Given the description of an element on the screen output the (x, y) to click on. 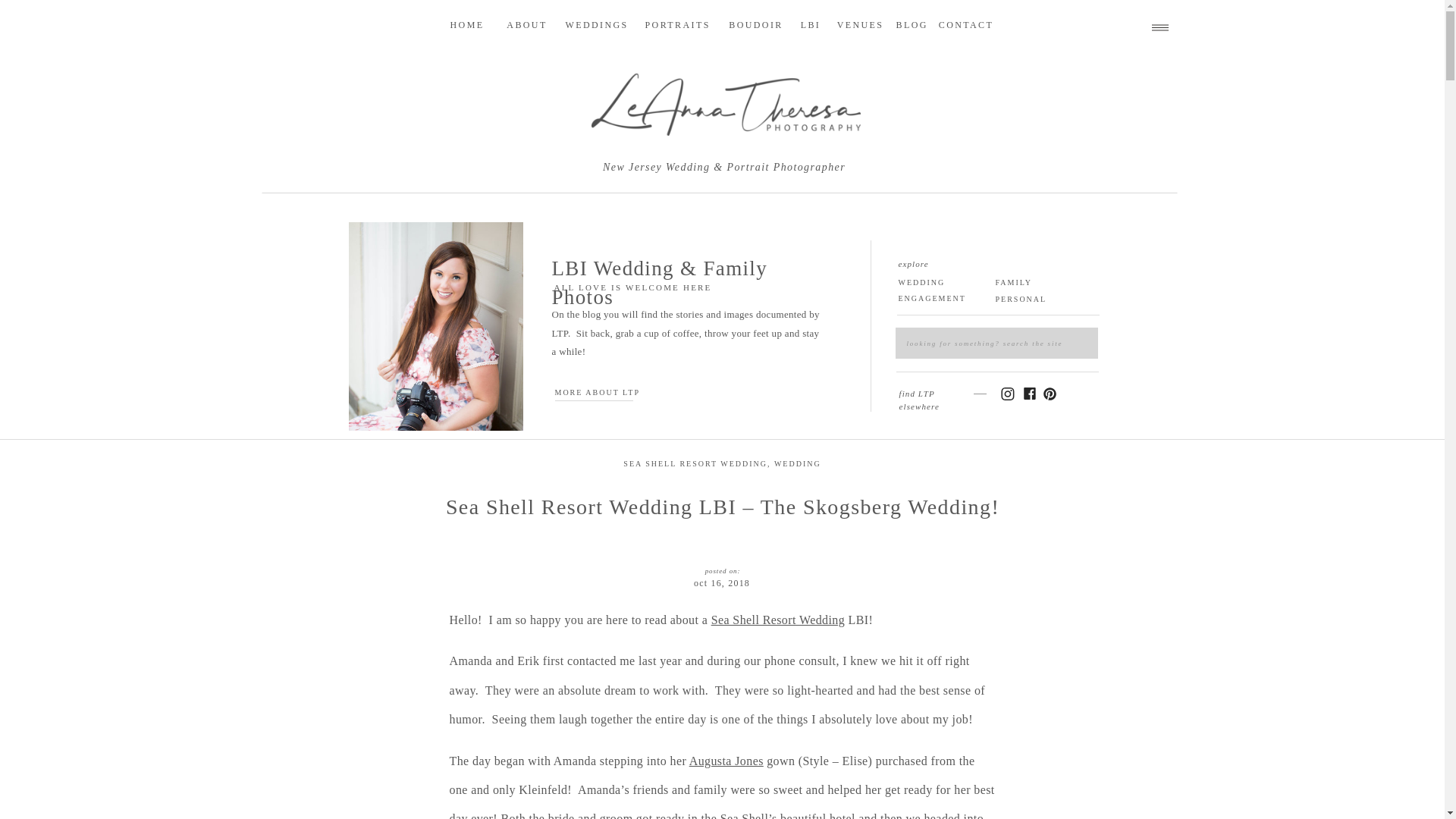
HOME (466, 25)
Instagram-color Created with Sketch. (1005, 393)
WEDDINGS (596, 25)
SEA SHELL RESORT WEDDING (695, 463)
 BLOG (909, 25)
Augusta Jones (725, 760)
MORE ABOUT LTP (602, 389)
CONTACT (965, 25)
PERSONAL (1031, 296)
Sea Shell Resort Wedding (777, 619)
FAMILY (1031, 279)
WEDDING (797, 463)
Instagram-color Created with Sketch. (1005, 393)
BOUDOIR (756, 25)
Facebook Copy-color Created with Sketch. (1028, 393)
